Given the description of an element on the screen output the (x, y) to click on. 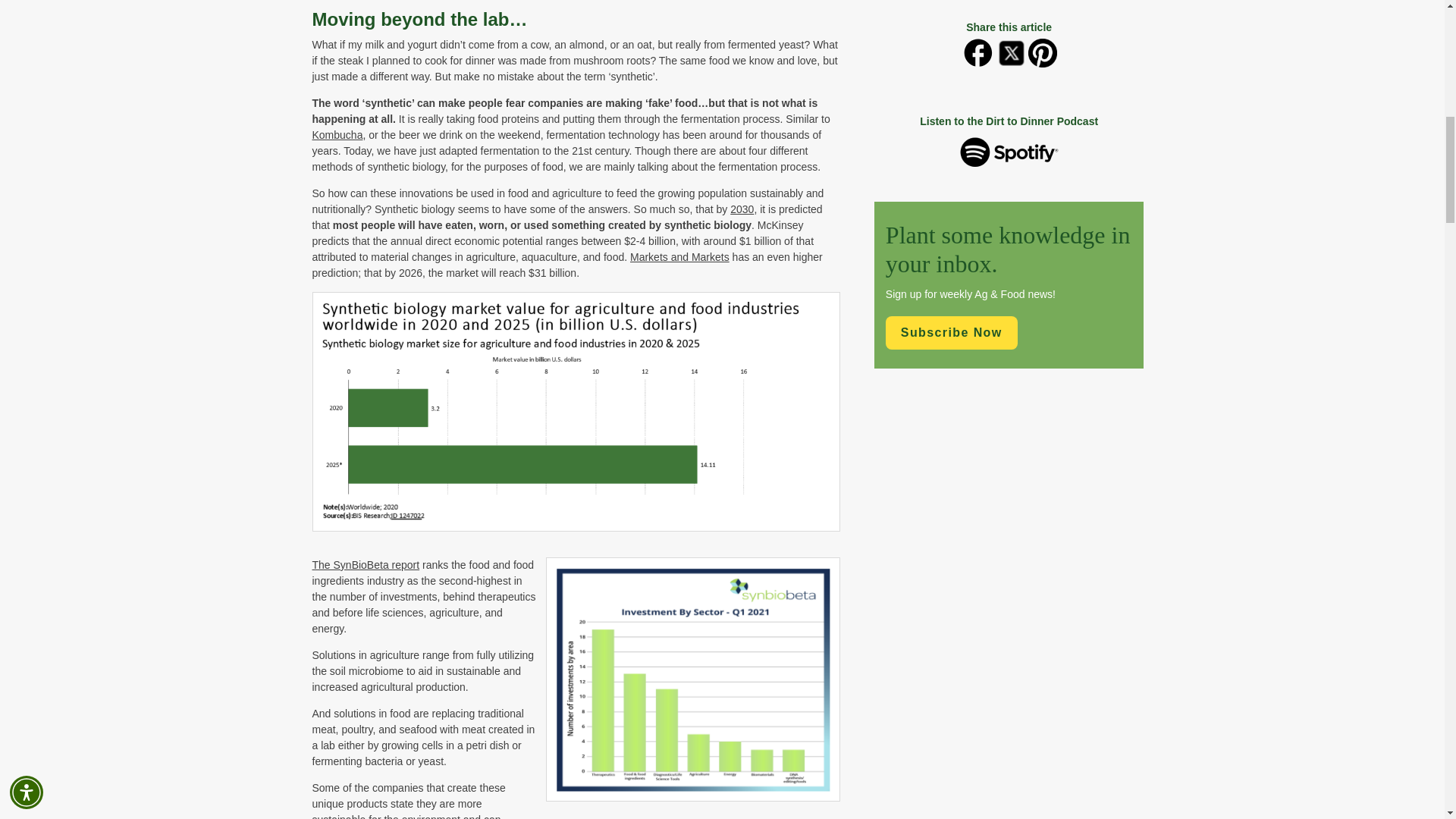
2030 (742, 209)
The SynBioBeta report (366, 564)
Kombucha (337, 134)
Markets and Markets (679, 256)
